Given the description of an element on the screen output the (x, y) to click on. 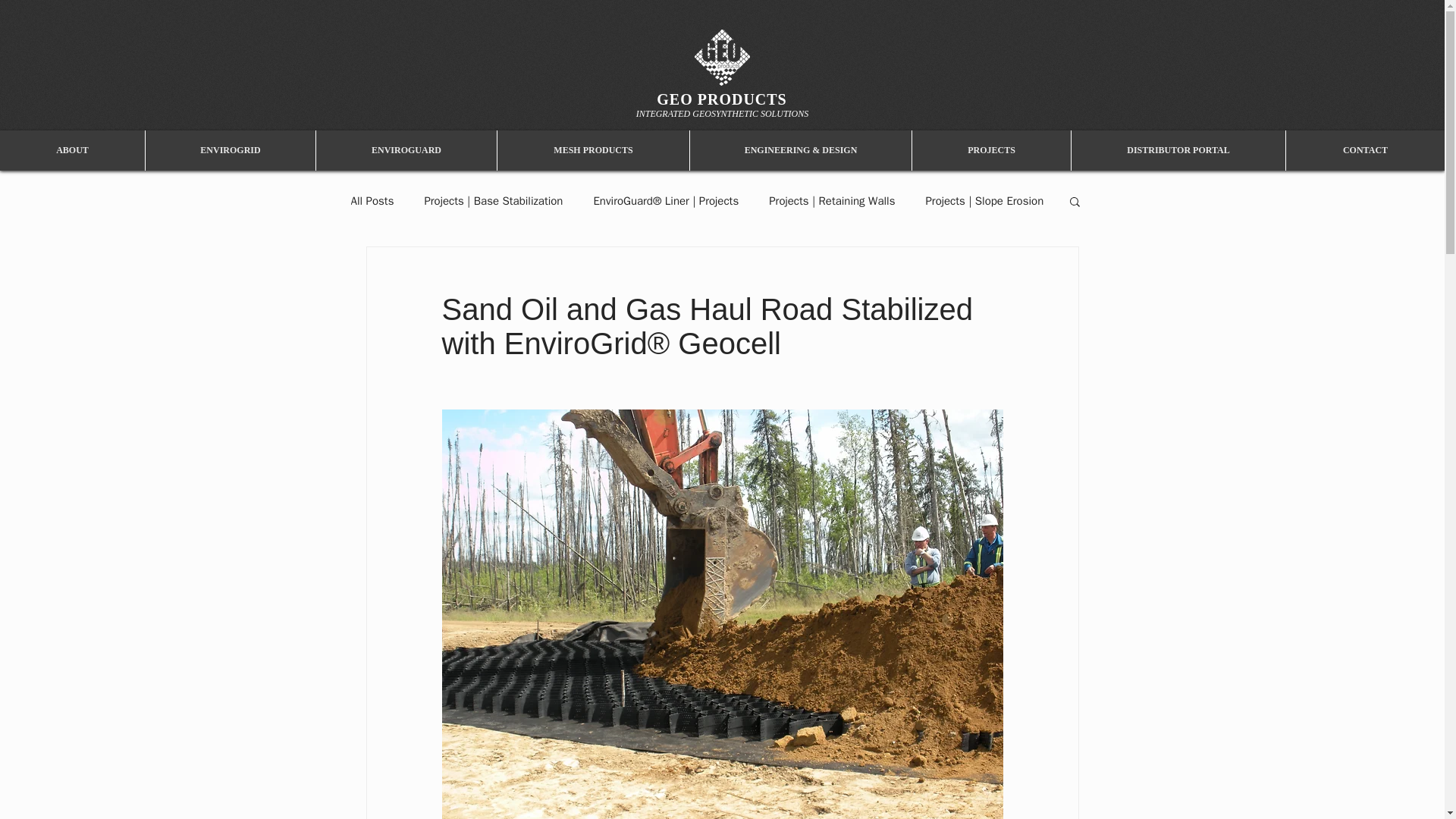
All Posts (371, 201)
ABOUT (72, 150)
DISTRIBUTOR PORTAL (1177, 150)
MESH PRODUCTS (592, 150)
PROJECTS (990, 150)
ENVIROGRID (229, 150)
ENVIROGUARD (405, 150)
